Given the description of an element on the screen output the (x, y) to click on. 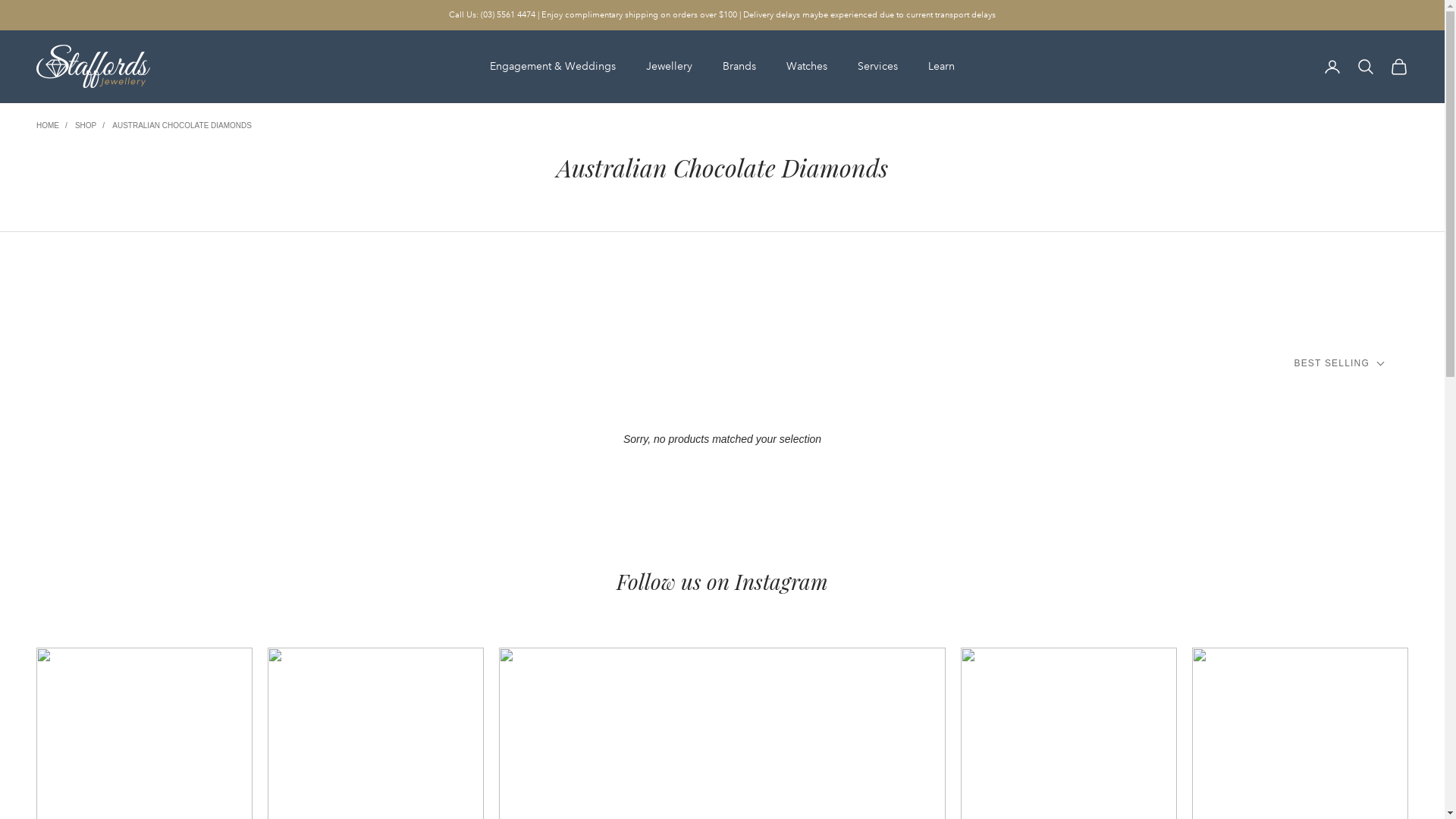
HOME Element type: text (47, 125)
AUSTRALIAN CHOCOLATE DIAMONDS Element type: text (181, 125)
Open cart Element type: text (1399, 66)
Open search Element type: text (1365, 66)
SHOP Element type: text (85, 125)
Staffords Jewellery Element type: text (93, 65)
Open account page Element type: text (1332, 66)
